Given the description of an element on the screen output the (x, y) to click on. 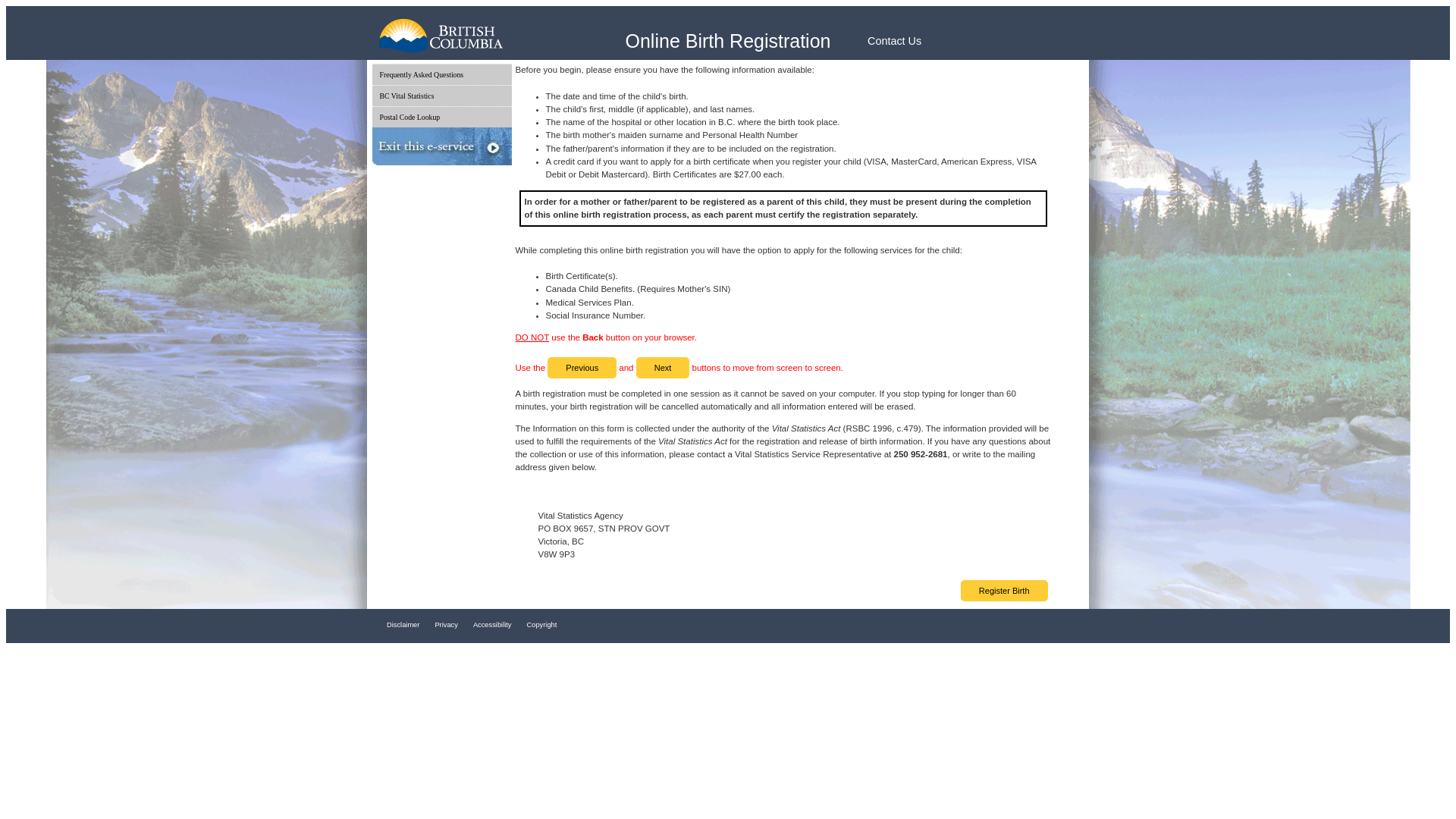
Disclaimer Element type: text (402, 624)
Contact Us Element type: text (894, 40)
B.C. Home Element type: hover (483, 39)
Copyright Element type: text (542, 624)
Click to exit the e-service Element type: hover (441, 146)
Privacy Element type: text (445, 624)
BC Vital Statistics Element type: text (441, 95)
Postal Code Lookup Element type: text (441, 116)
Frequently Asked Questions Element type: text (441, 74)
Accessibility Element type: text (492, 624)
Register Birth Element type: text (1004, 589)
